Given the description of an element on the screen output the (x, y) to click on. 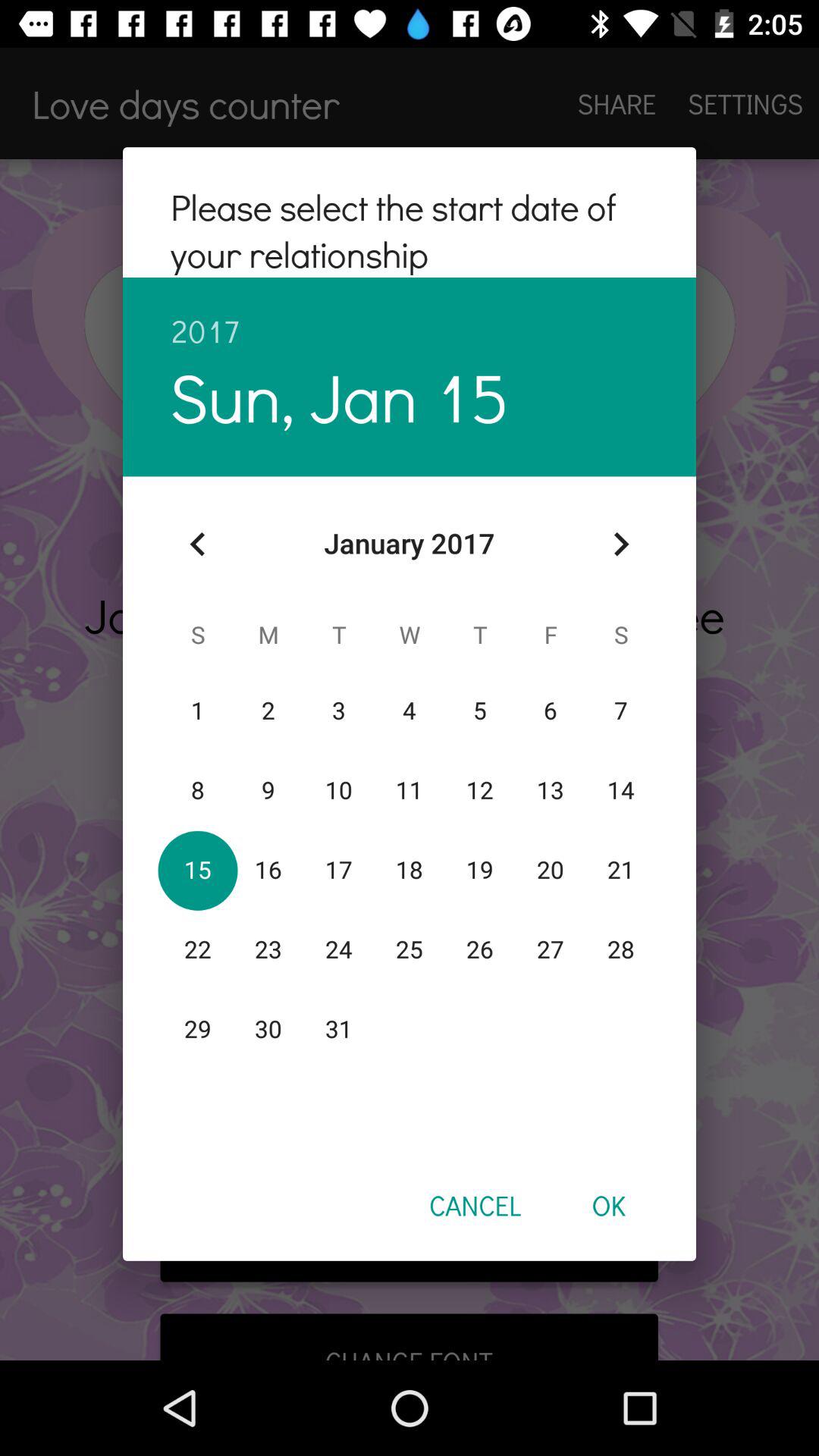
click item on the right (620, 544)
